Given the description of an element on the screen output the (x, y) to click on. 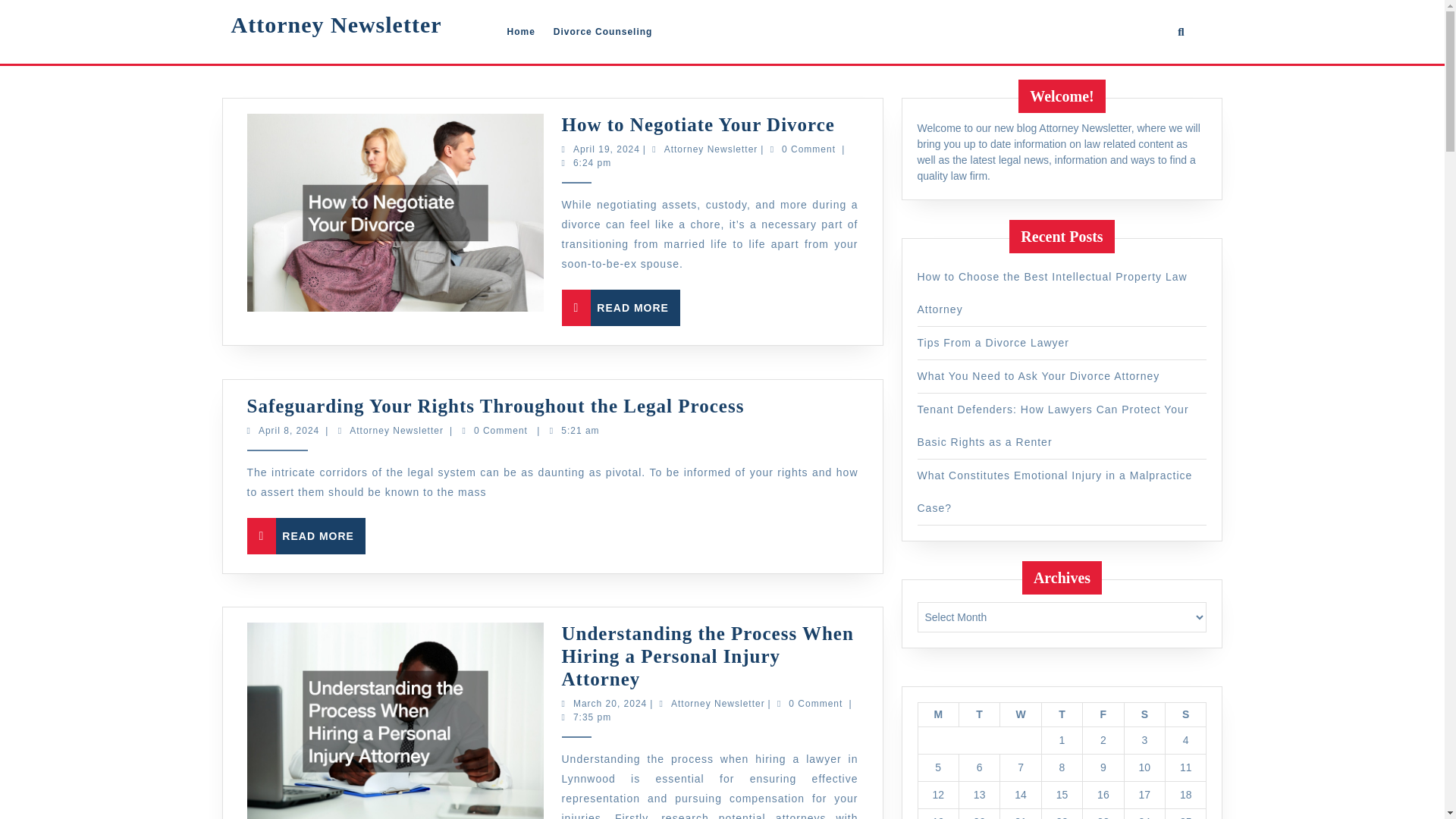
How to Choose the Best Intellectual Property Law Attorney (5, 149)
Attorney Newsletter (1052, 293)
Thursday (335, 24)
Wednesday (382, 703)
Sunday (1061, 713)
